Given the description of an element on the screen output the (x, y) to click on. 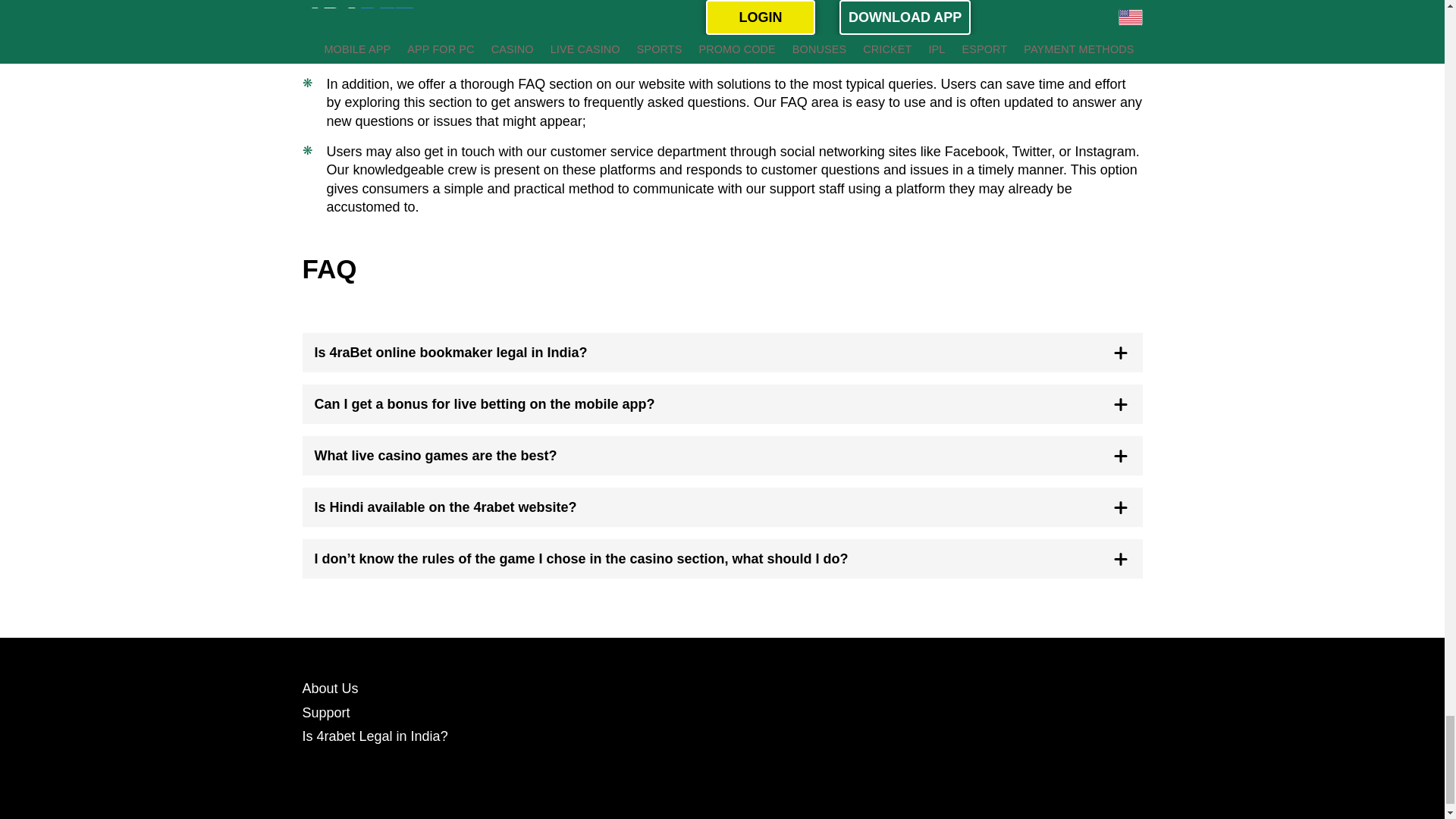
Is 4rabet Legal in India? (373, 735)
About Us (329, 688)
Support (325, 712)
